Given the description of an element on the screen output the (x, y) to click on. 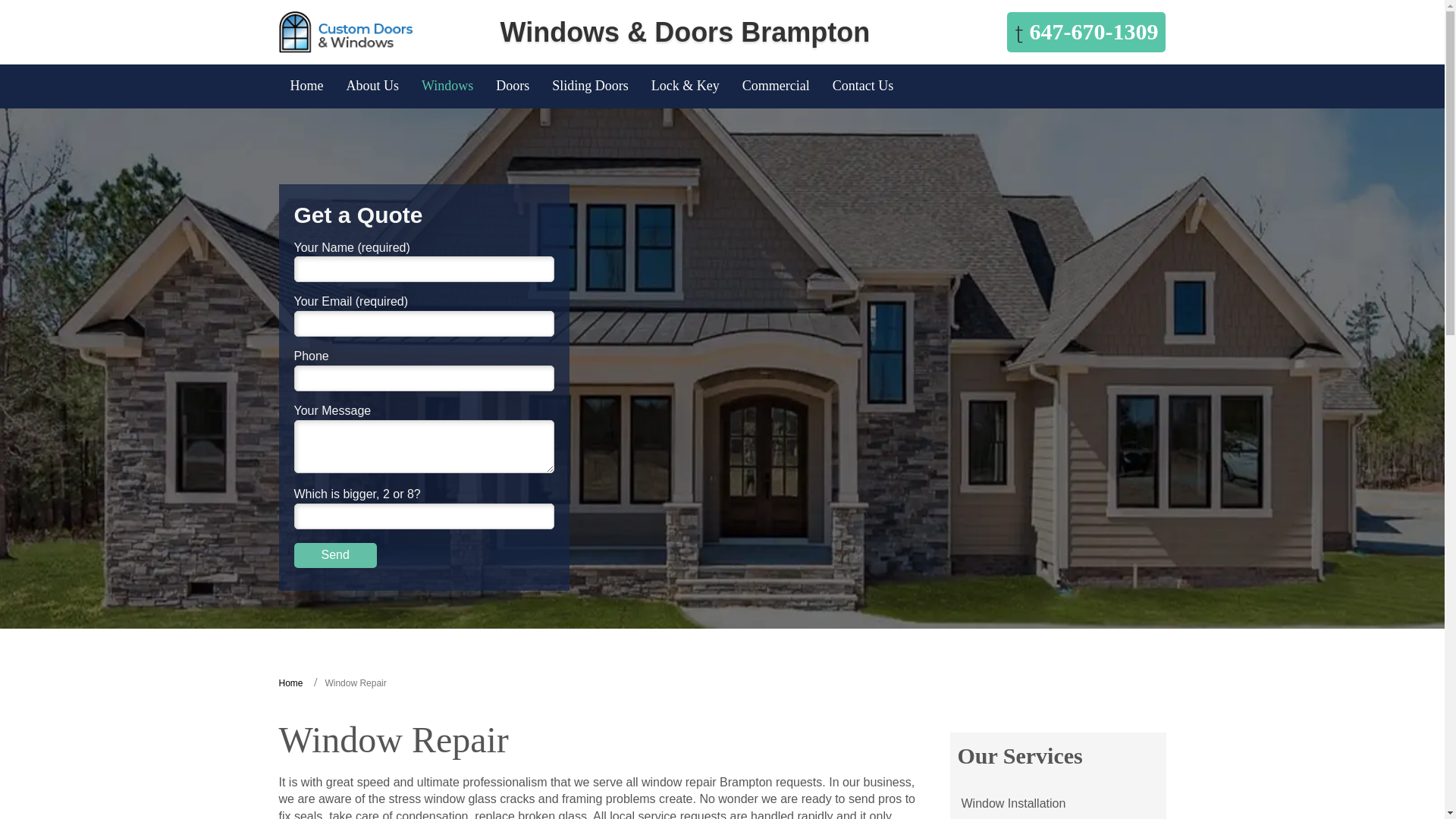
647-670-1309 (1086, 32)
Commercial (775, 86)
Send (335, 555)
Home (290, 683)
Doors (512, 86)
Contact Us (863, 86)
About Us (372, 86)
Home (306, 86)
Window Installation (1013, 803)
Send (335, 555)
Windows (447, 86)
Sliding Doors (590, 86)
